Given the description of an element on the screen output the (x, y) to click on. 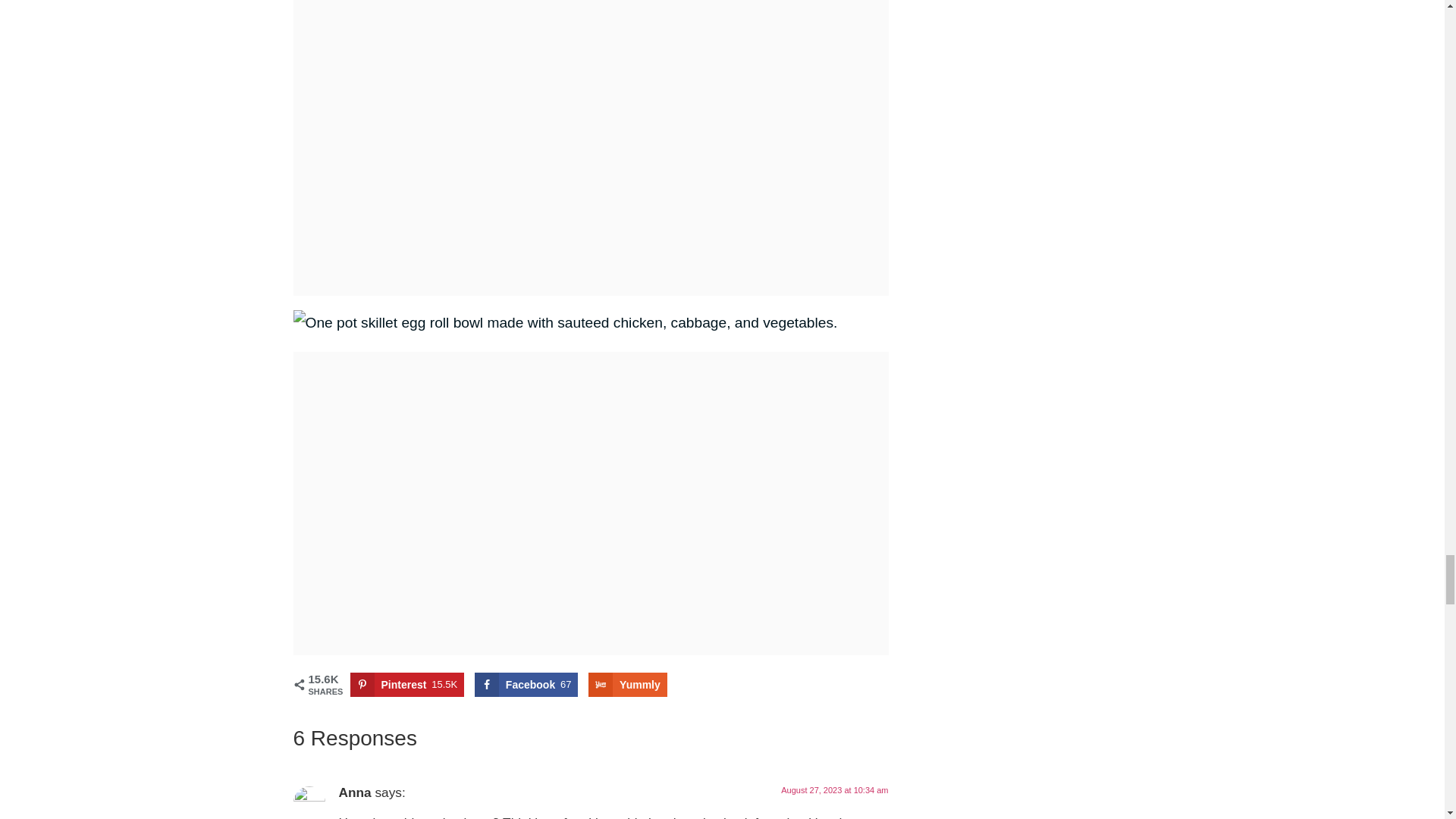
Share on Facebook (526, 684)
Save to Pinterest (407, 684)
Asian Garlic Sesame Chicken Egg Roll Bowls 4 (564, 323)
Share on Yummly (627, 684)
